Given the description of an element on the screen output the (x, y) to click on. 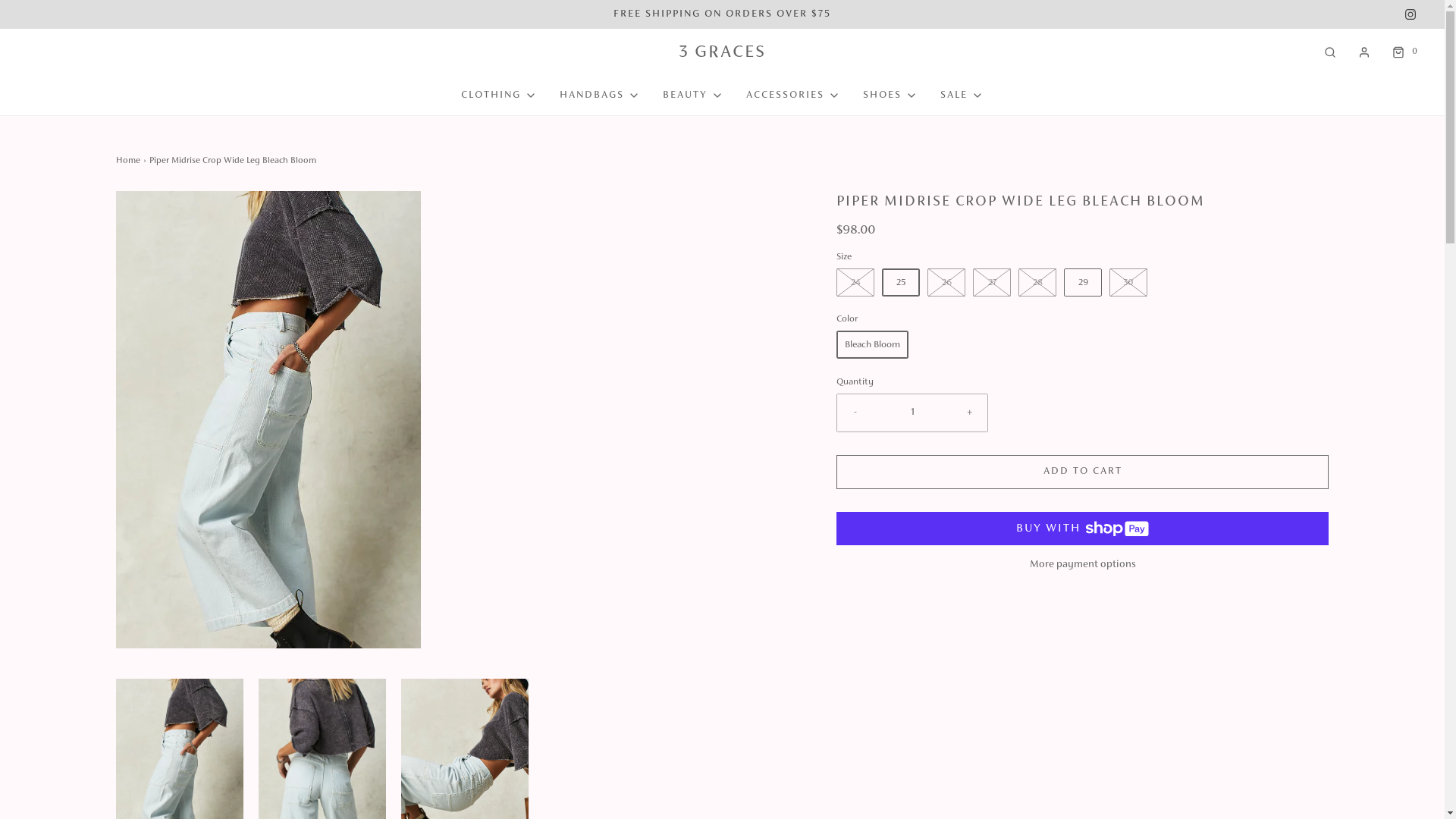
CLOTHING Element type: text (498, 95)
- Element type: text (854, 412)
HANDBAGS Element type: text (599, 95)
Log in Element type: hover (1364, 52)
ADD TO CART Element type: text (1082, 472)
ACCESSORIES Element type: text (793, 95)
BEAUTY Element type: text (692, 95)
Home Element type: text (129, 160)
More payment options Element type: text (1082, 564)
Search Element type: hover (1329, 51)
SALE Element type: text (961, 95)
INSTAGRAM ICON Element type: text (1410, 14)
0 Element type: text (1402, 51)
SHOES Element type: text (889, 95)
+ Element type: text (969, 412)
3 GRACES Element type: text (721, 52)
